Given the description of an element on the screen output the (x, y) to click on. 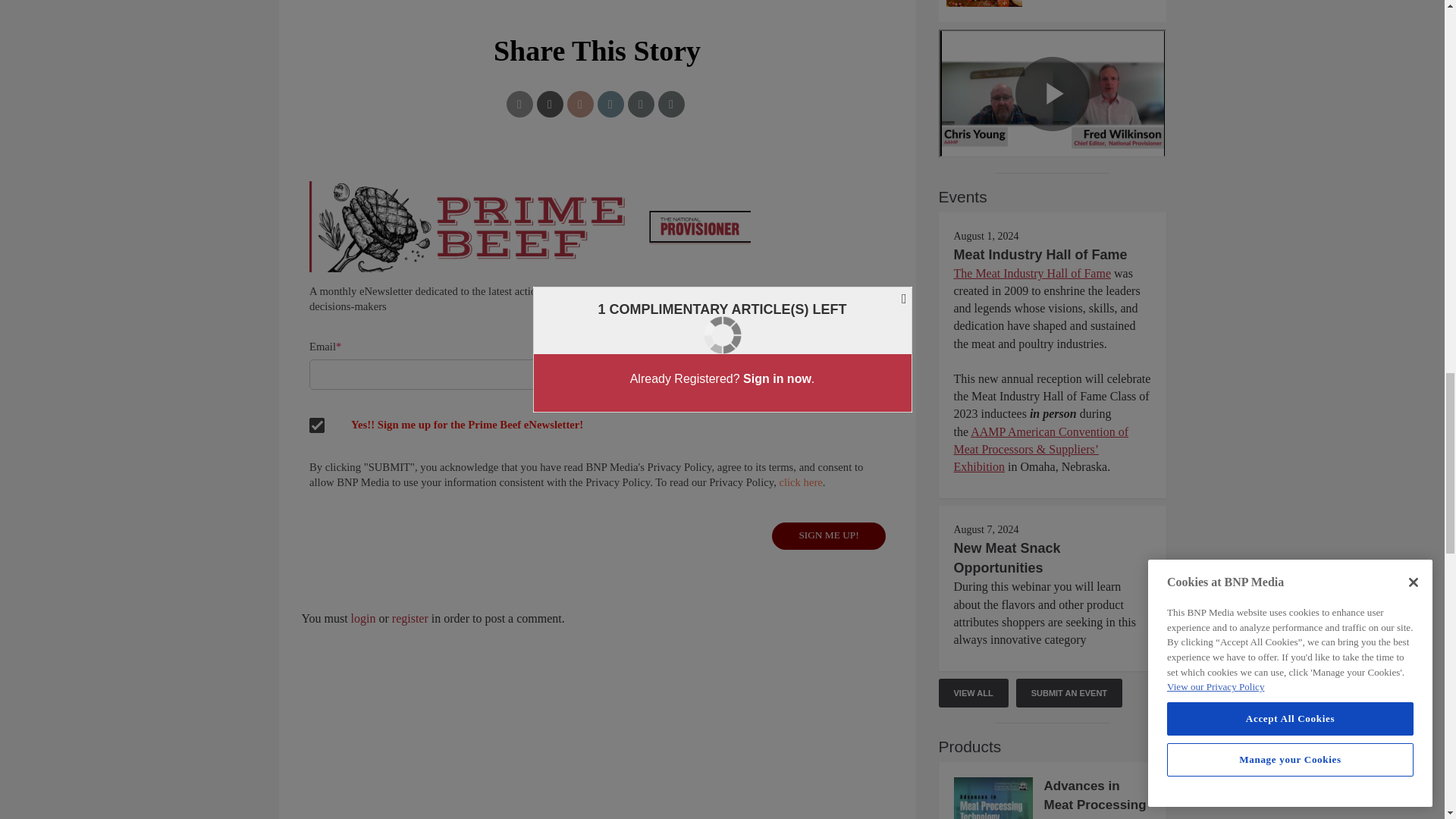
Meat Industry Hall of Fame (1039, 254)
New Meat Snack Opportunities (1007, 557)
Product variety and innovation propel sausage at retail (1052, 3)
